Given the description of an element on the screen output the (x, y) to click on. 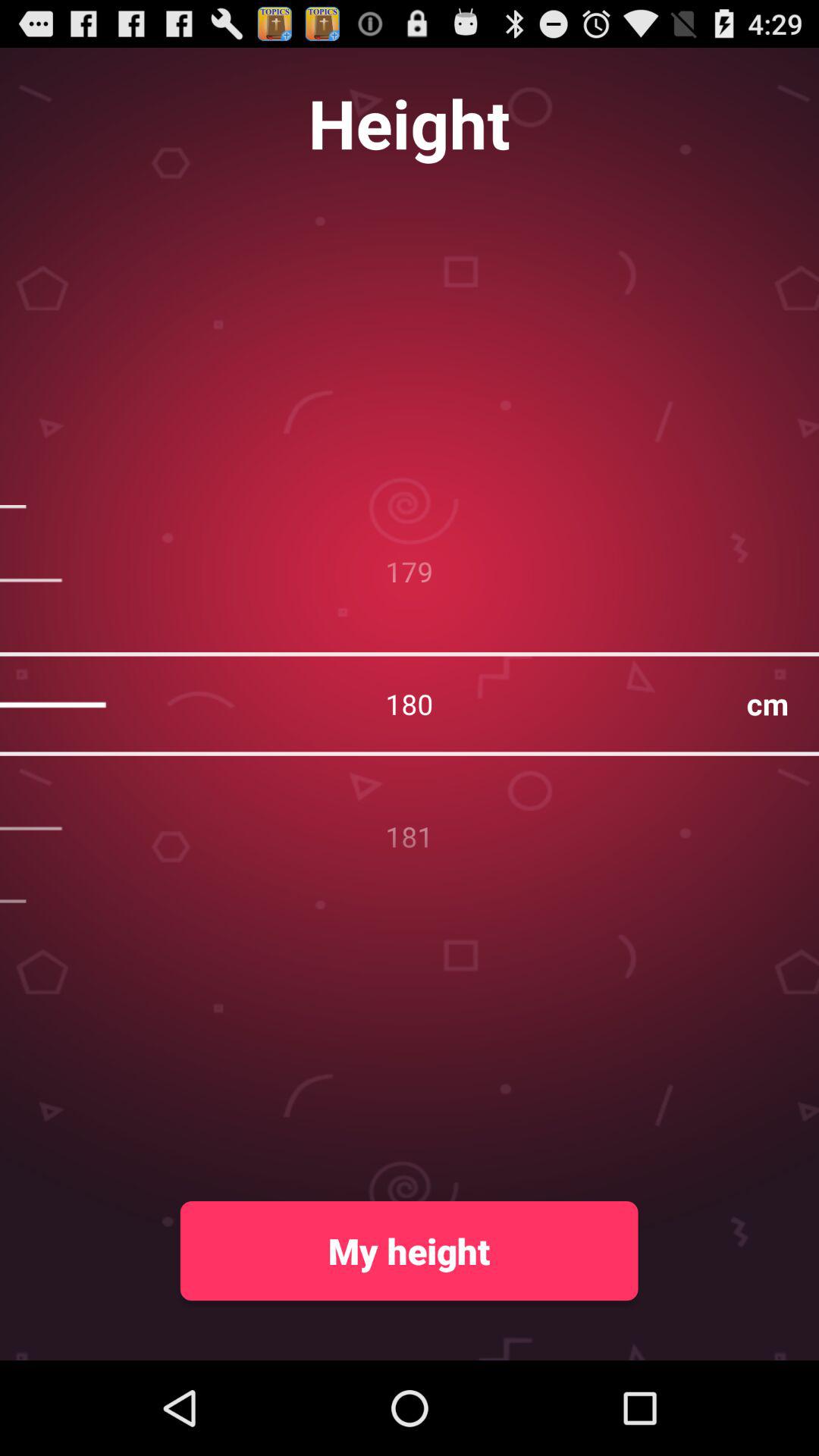
launch my height (409, 1250)
